Given the description of an element on the screen output the (x, y) to click on. 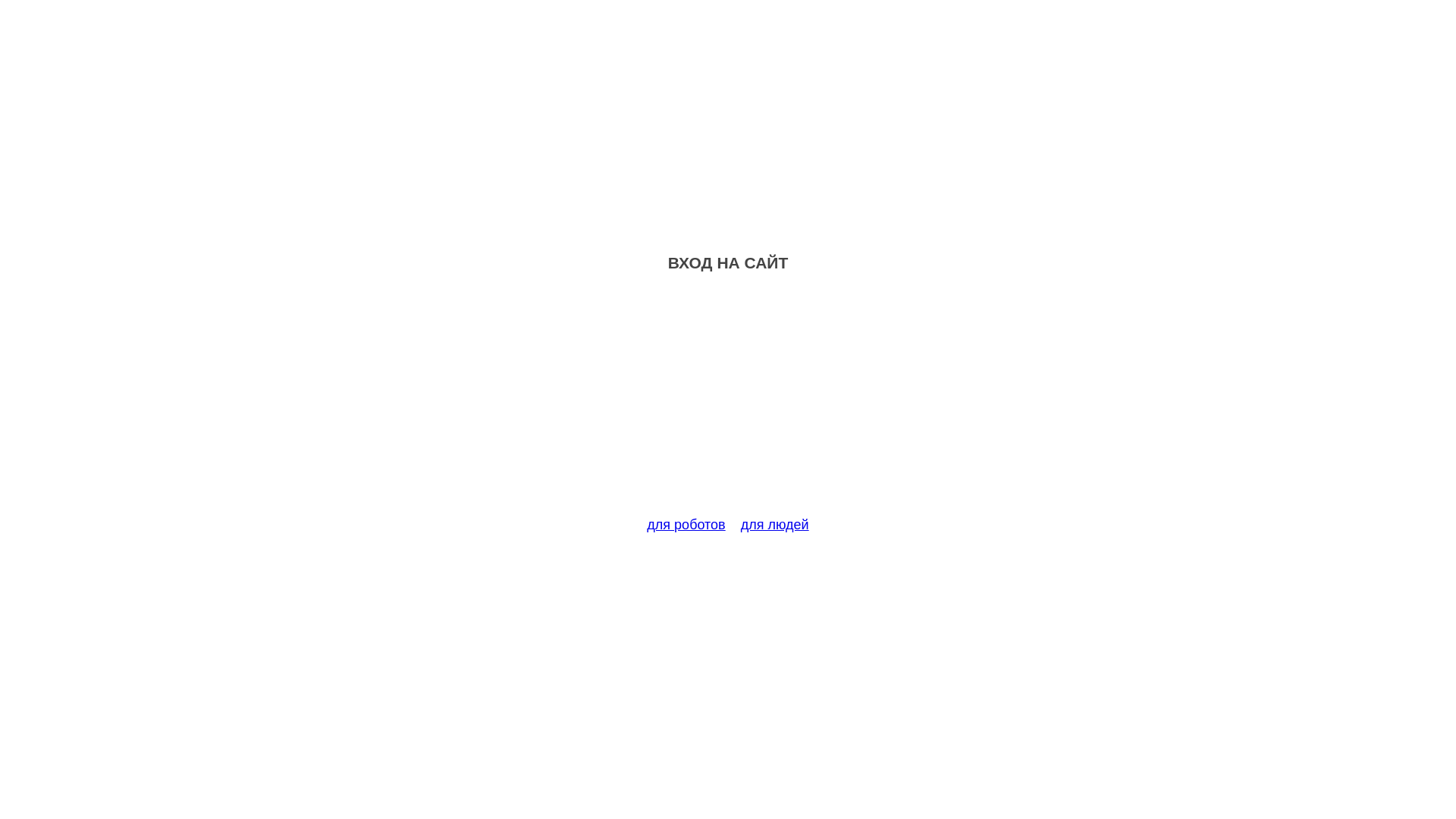
Advertisement Element type: hover (727, 403)
